Given the description of an element on the screen output the (x, y) to click on. 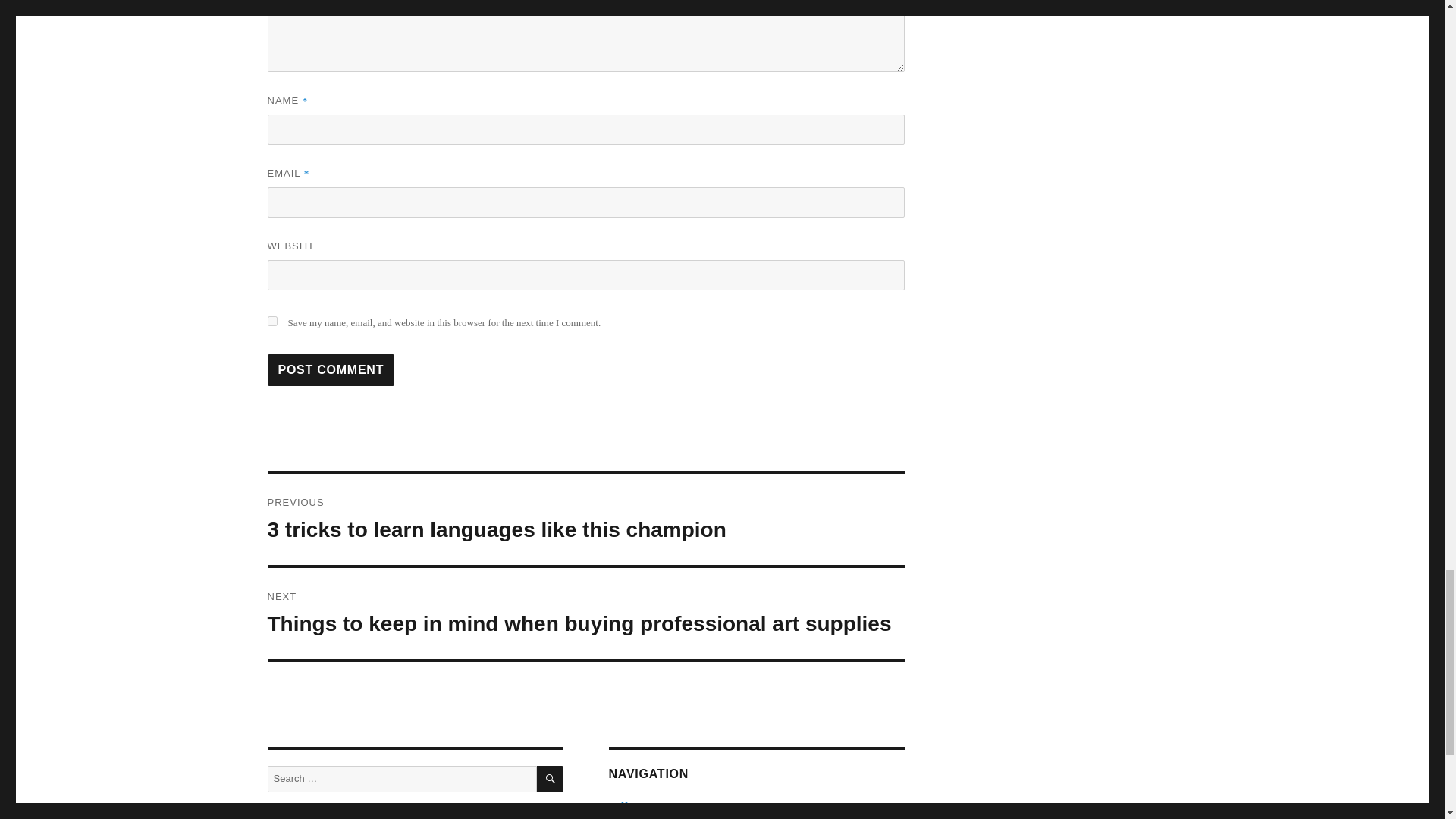
Post Comment (330, 369)
Home (633, 804)
Privacy Policy (649, 816)
Post Comment (330, 369)
yes (271, 320)
SEARCH (550, 778)
